Given the description of an element on the screen output the (x, y) to click on. 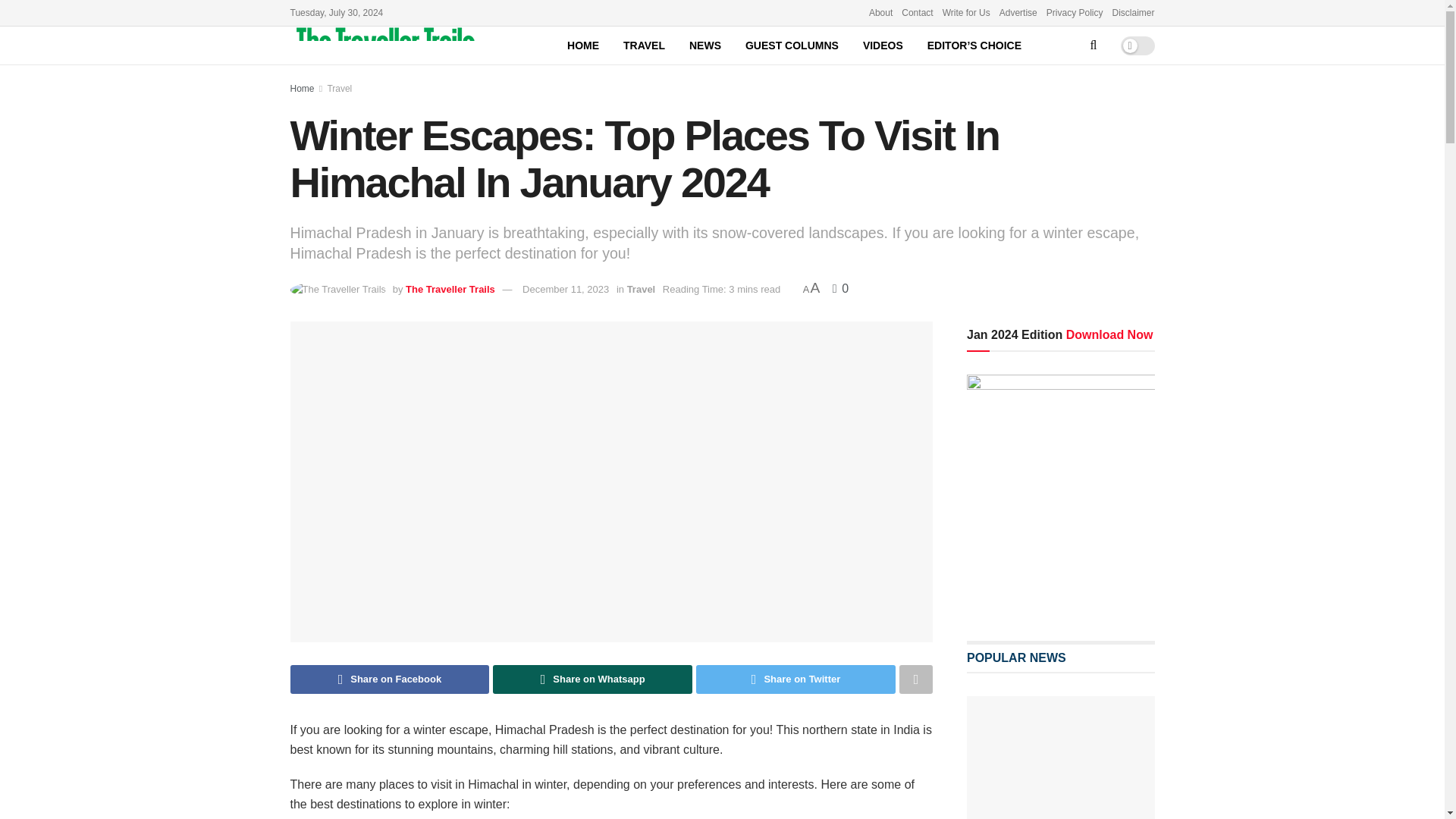
About (880, 12)
Advertise (1017, 12)
TRAVEL (644, 45)
Travel (641, 288)
Home (301, 88)
GUEST COLUMNS (791, 45)
December 11, 2023 (565, 288)
Travel (339, 88)
0 (840, 287)
Write for Us (966, 12)
Share on Whatsapp (593, 679)
Share on Facebook (389, 679)
Disclaimer (1133, 12)
NEWS (705, 45)
Privacy Policy (1074, 12)
